Given the description of an element on the screen output the (x, y) to click on. 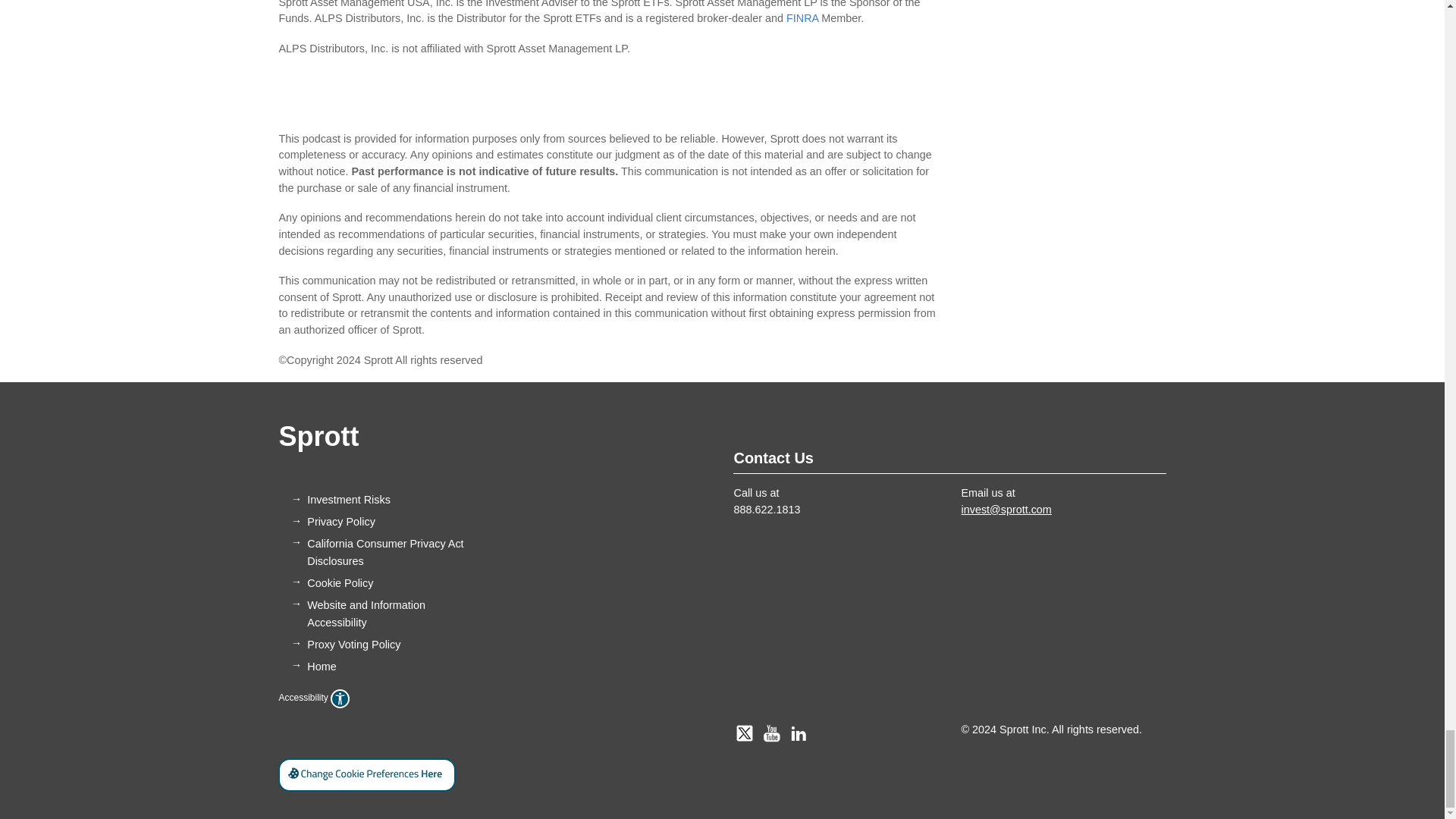
Proxy Voting Policy (353, 644)
Cookie Policy (339, 582)
Investment Risks (348, 499)
California Consumer Privacy Act Disclosures (385, 552)
Terms of Use (348, 499)
Privacy Policy (341, 521)
Website and Information Accessibility (366, 613)
Accessibility  (313, 697)
Home (321, 666)
FINRA (802, 18)
